Given the description of an element on the screen output the (x, y) to click on. 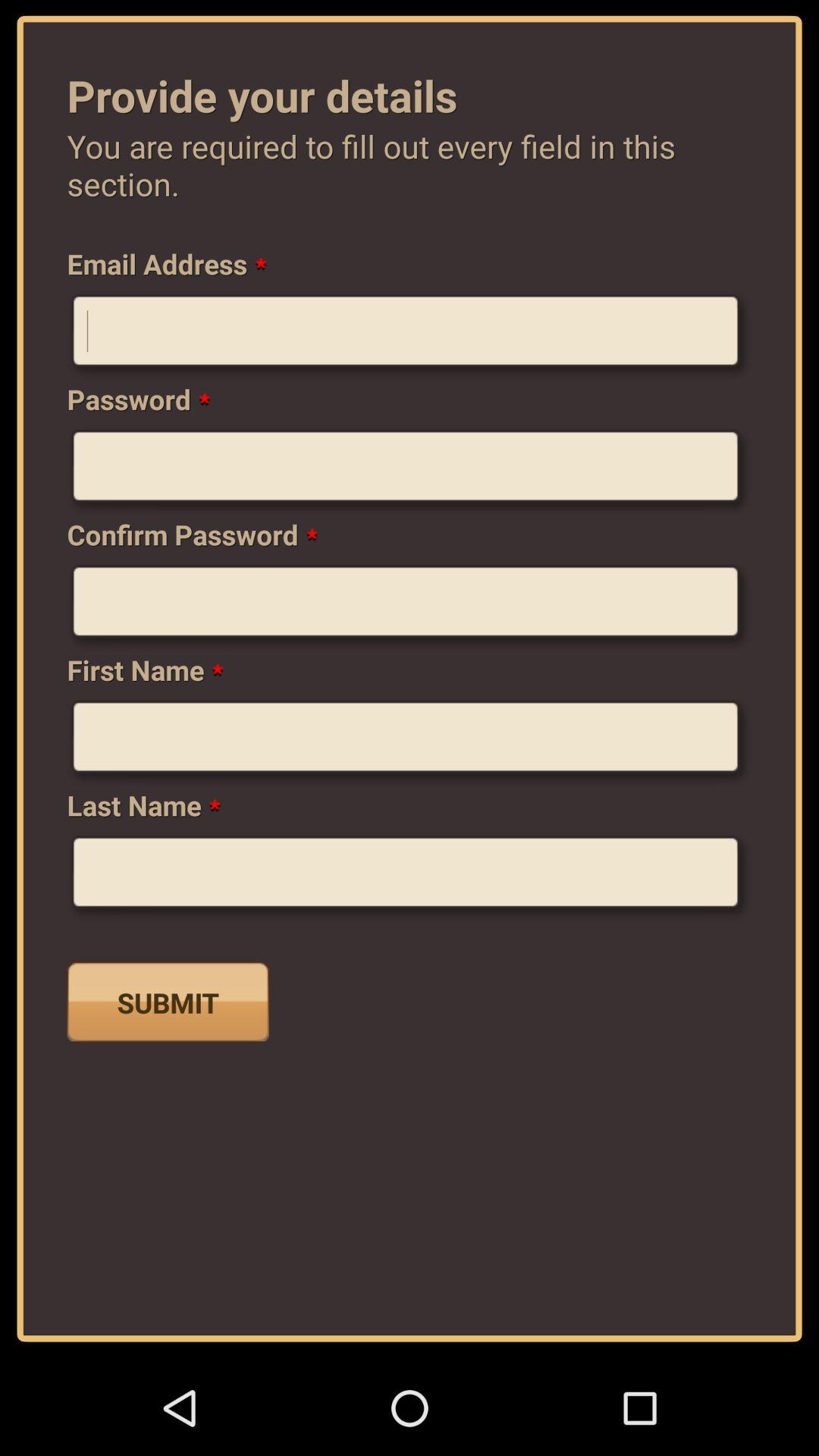
turn on submit at the bottom left corner (168, 1001)
